Given the description of an element on the screen output the (x, y) to click on. 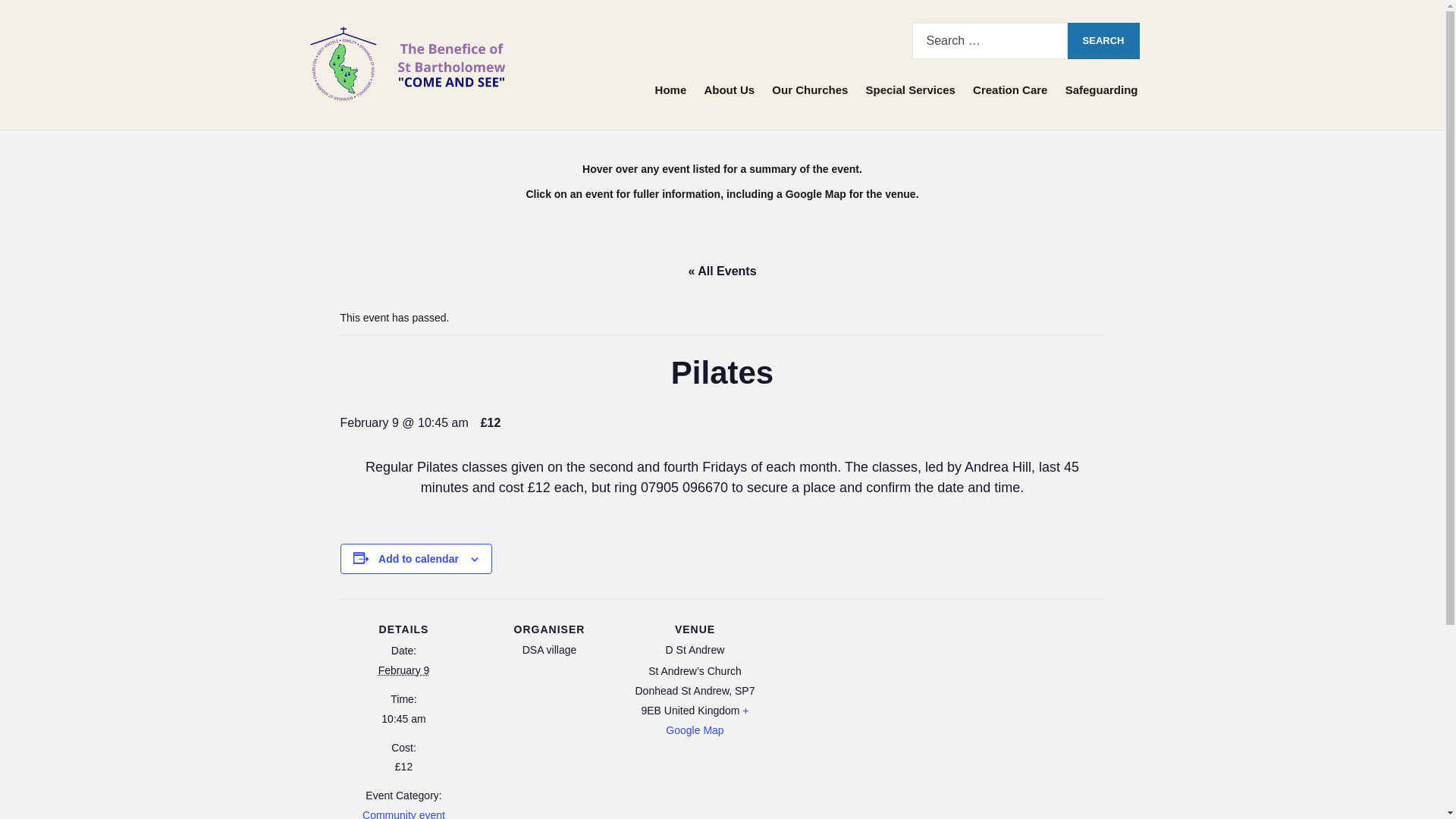
Search (1103, 40)
2024-02-09 (403, 670)
Search (1103, 40)
2024-02-09 (403, 719)
Click to view a Google Map (706, 720)
Google maps iframe displaying the address to D St Andrew (856, 702)
